Given the description of an element on the screen output the (x, y) to click on. 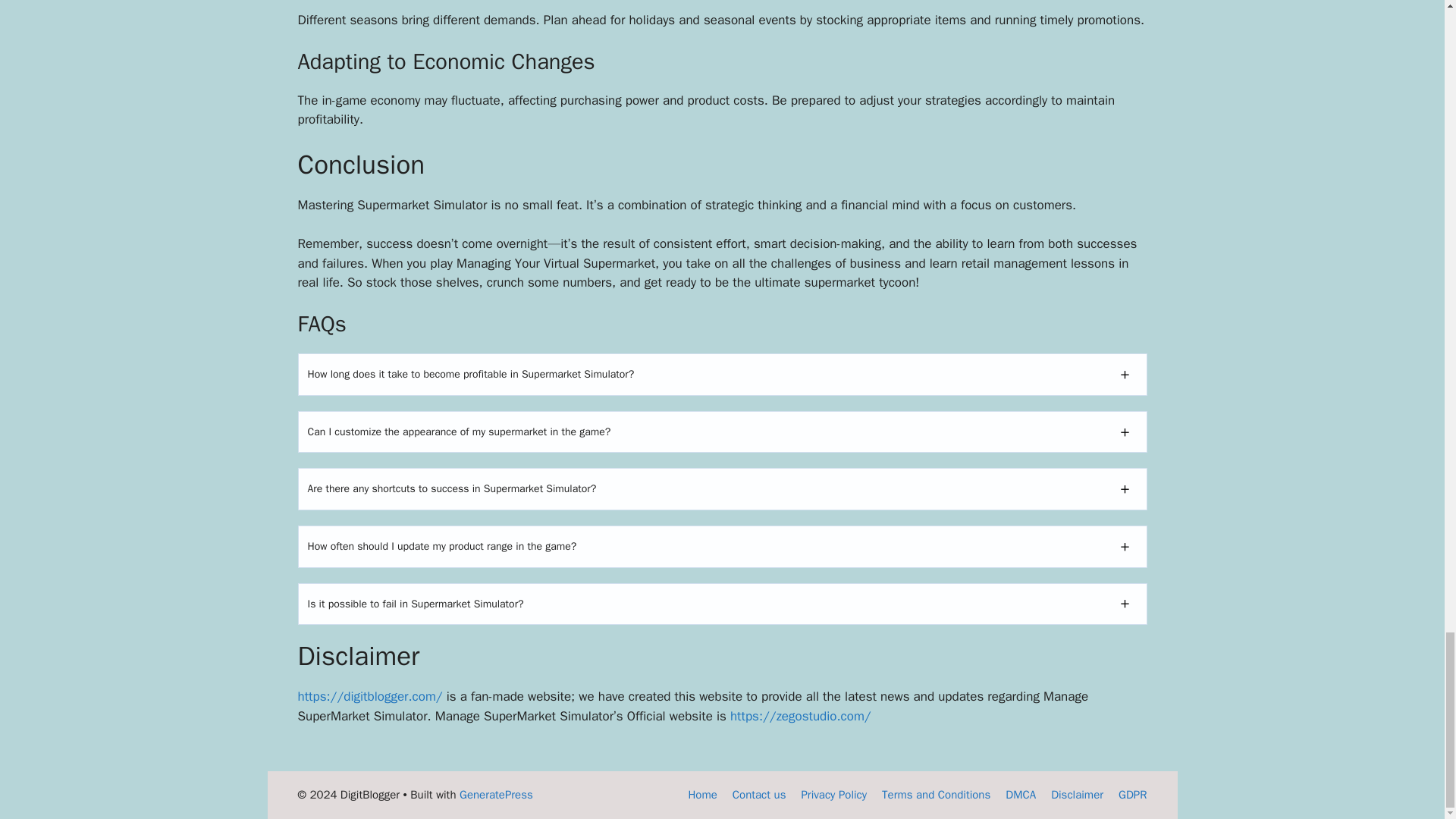
GeneratePress (496, 794)
Home (701, 794)
Disclaimer (1077, 794)
Privacy Policy (833, 794)
GDPR (1132, 794)
Terms and Conditions (936, 794)
DMCA (1020, 794)
Contact us (759, 794)
